Given the description of an element on the screen output the (x, y) to click on. 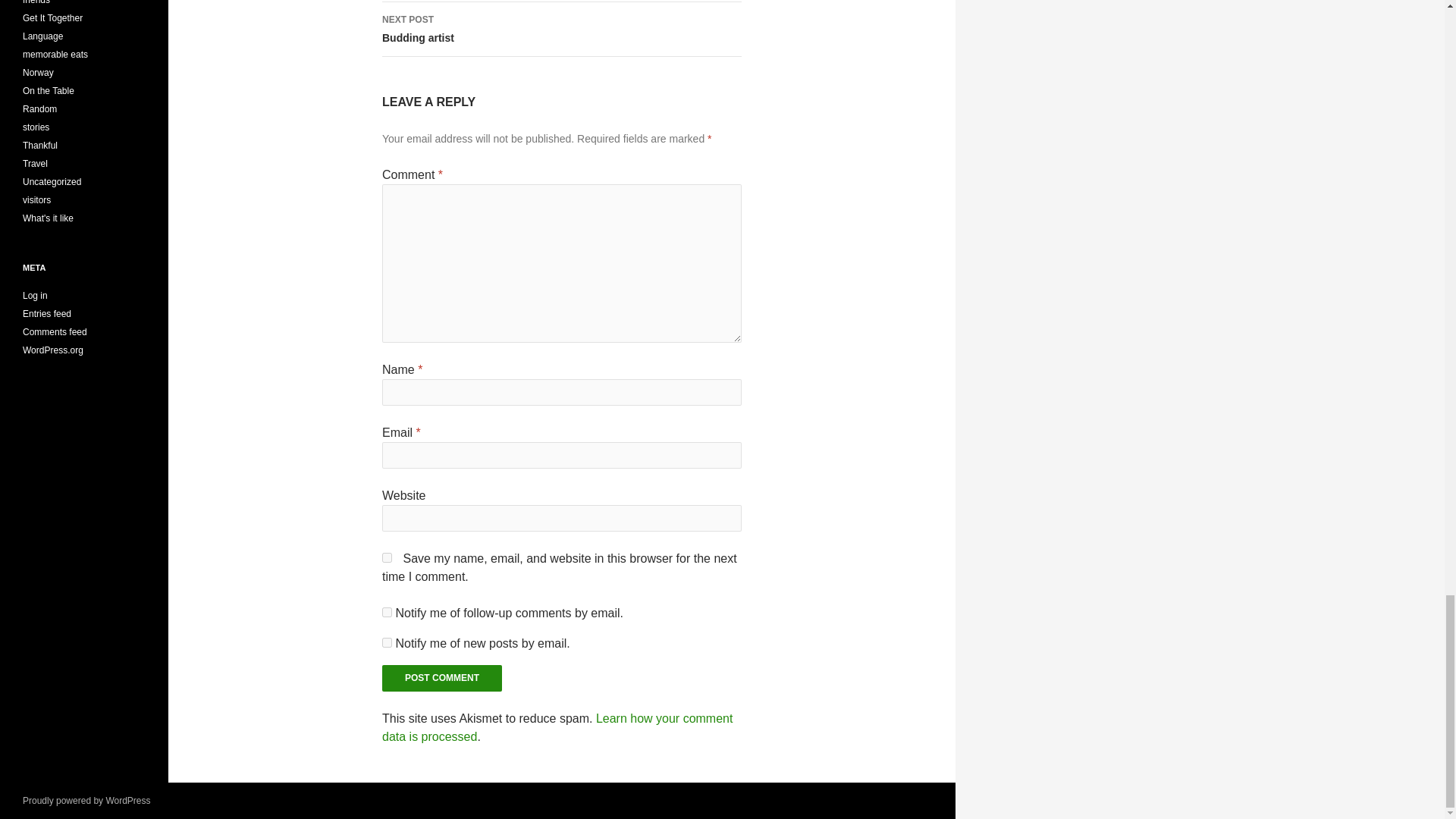
Post Comment (441, 678)
subscribe (561, 29)
Learn how your comment data is processed (386, 612)
yes (556, 726)
subscribe (386, 557)
Post Comment (386, 642)
